Given the description of an element on the screen output the (x, y) to click on. 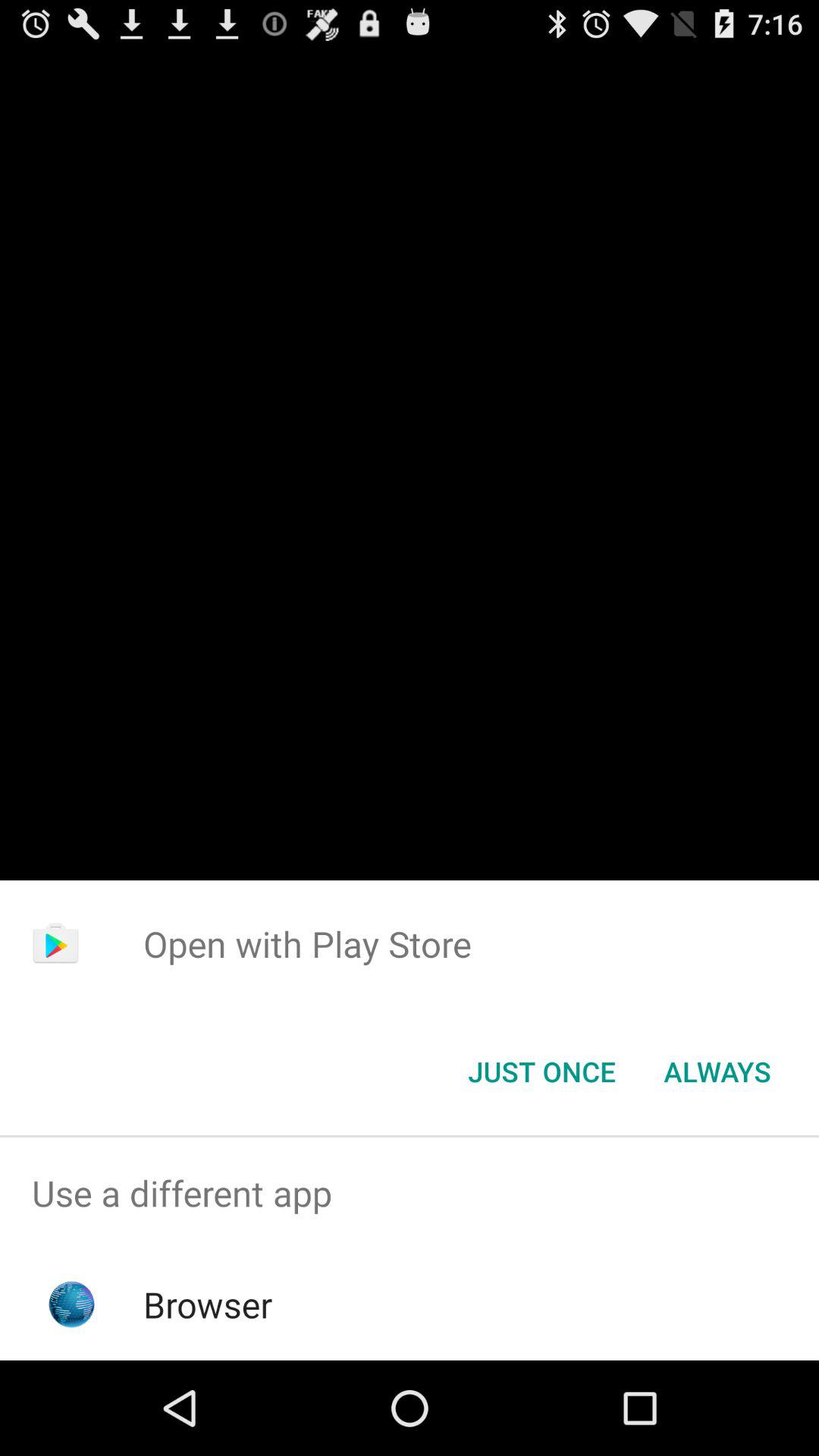
turn on always item (717, 1071)
